Given the description of an element on the screen output the (x, y) to click on. 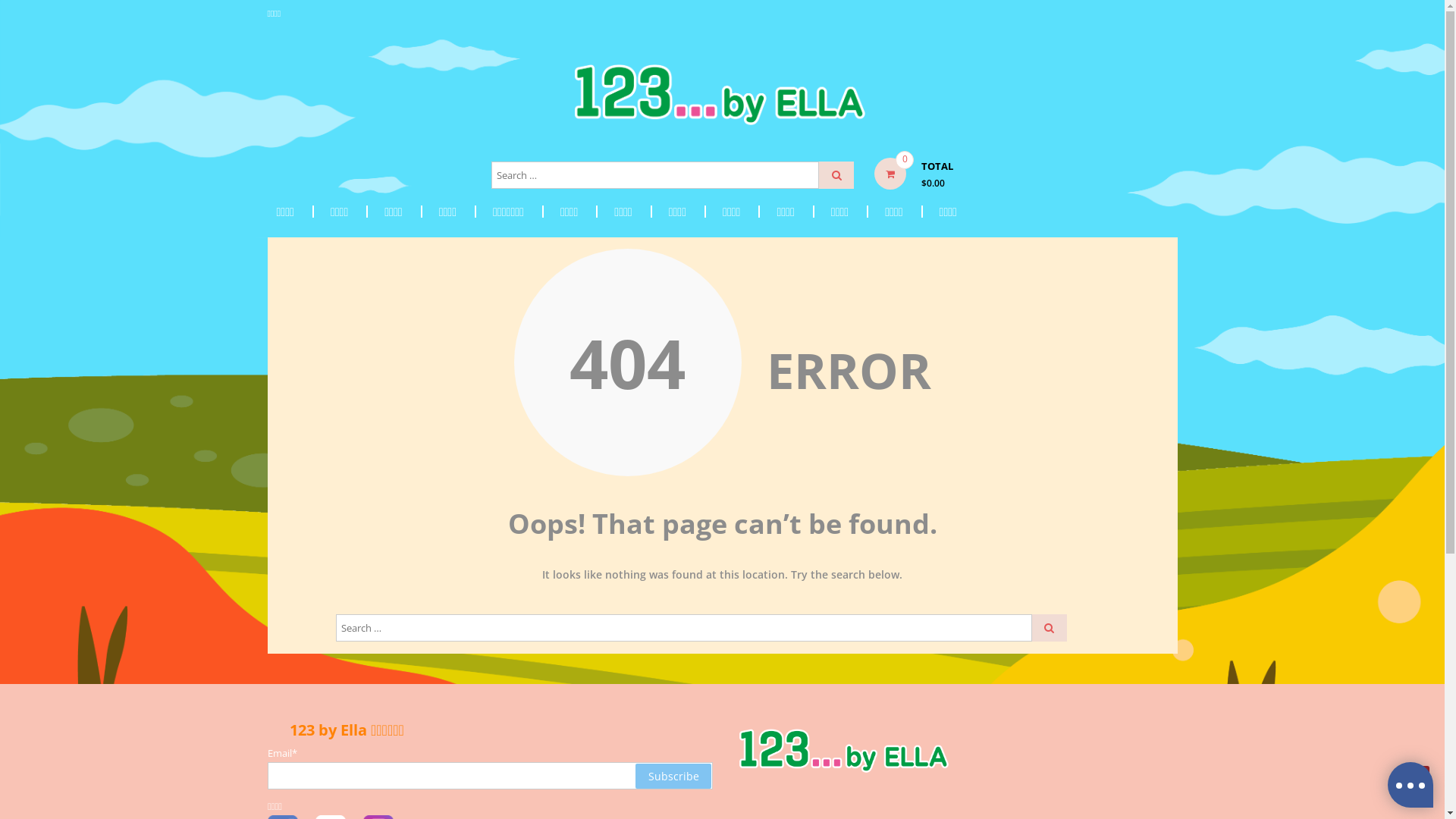
0 Element type: text (890, 173)
Login/ Register Element type: text (1168, 14)
Search Element type: text (836, 174)
Search Element type: text (1048, 627)
Subscribe Element type: text (673, 775)
123 by ELLA Element type: text (746, 95)
